Given the description of an element on the screen output the (x, y) to click on. 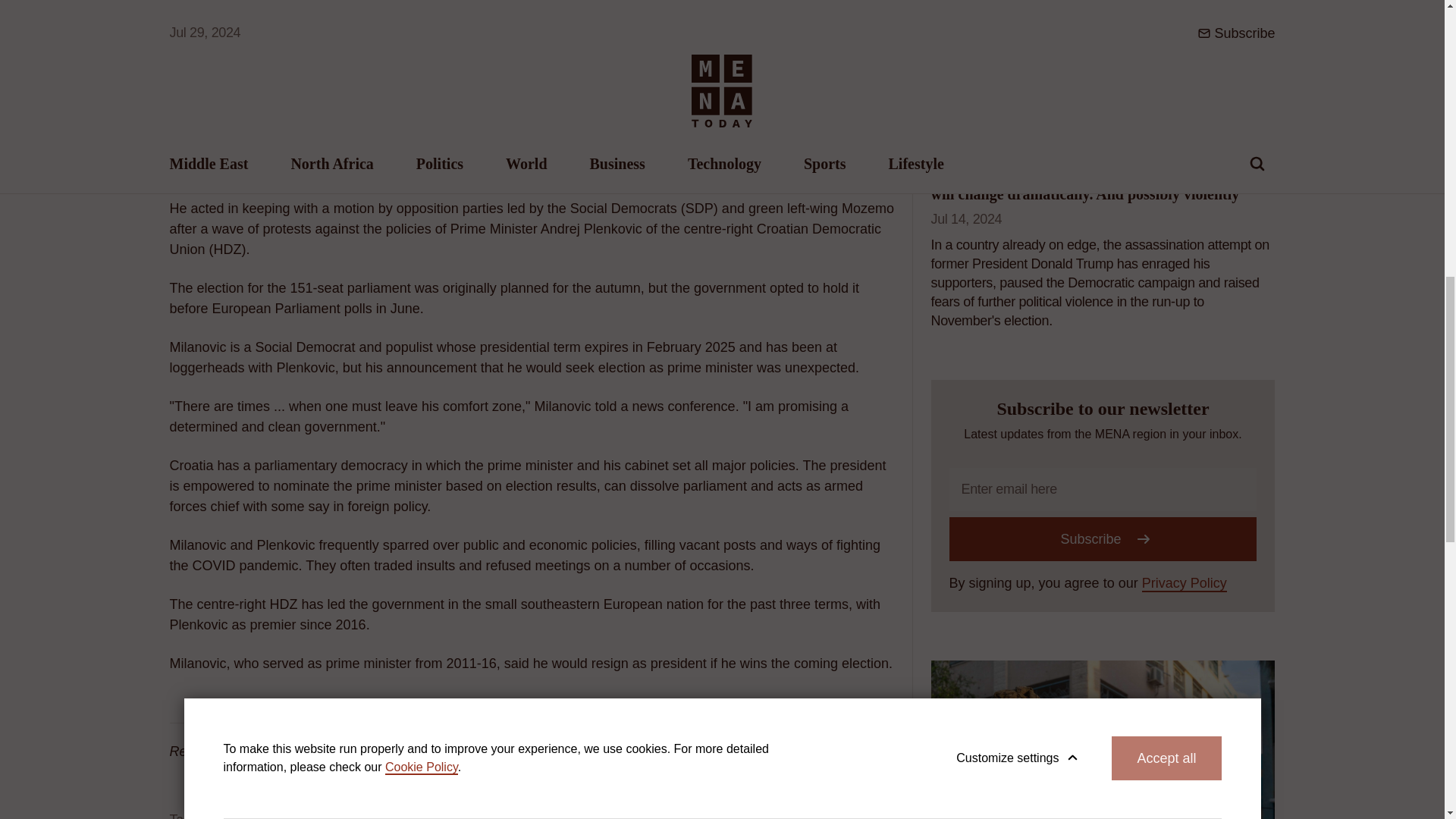
Subscribe (1103, 538)
Privacy Policy (1184, 583)
